Given the description of an element on the screen output the (x, y) to click on. 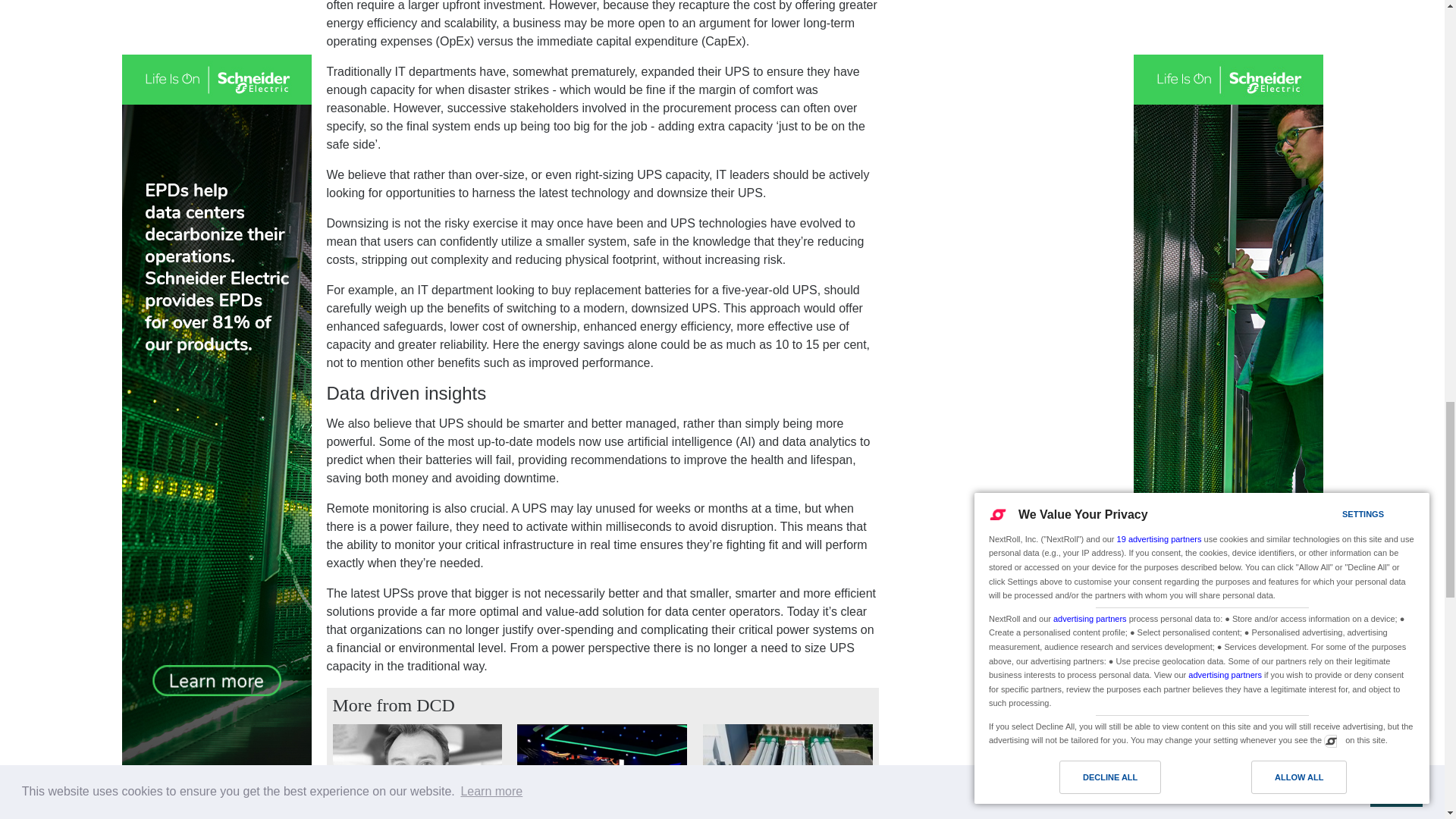
3rd party ad content (1007, 3)
